Given the description of an element on the screen output the (x, y) to click on. 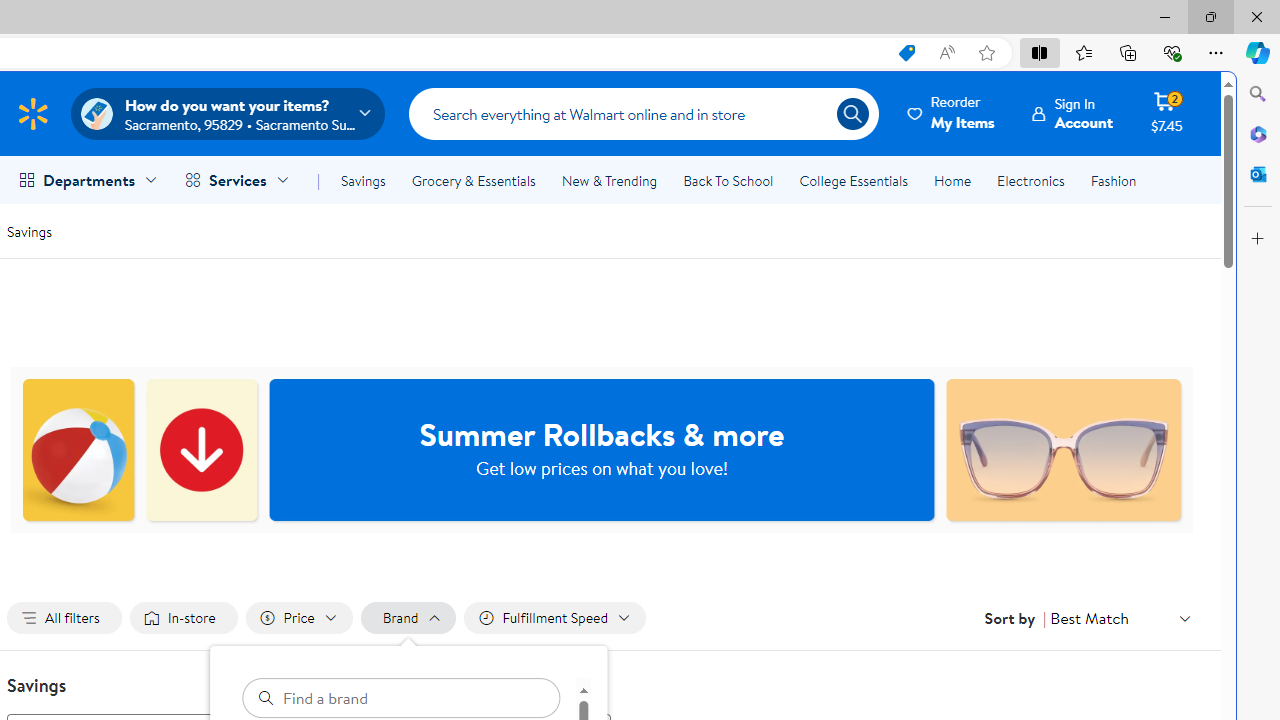
Microsoft 365 (1258, 133)
Grocery & Essentials (473, 180)
Close Search pane (1258, 94)
Search icon (852, 113)
Electronics (1030, 180)
College Essentials (852, 180)
Summer Rollbacks & more Get low prices on what you love! (601, 449)
All filters none applied, activate to change (63, 618)
Back To School (728, 180)
This site has coupons! Shopping in Microsoft Edge, 7 (906, 53)
